Given the description of an element on the screen output the (x, y) to click on. 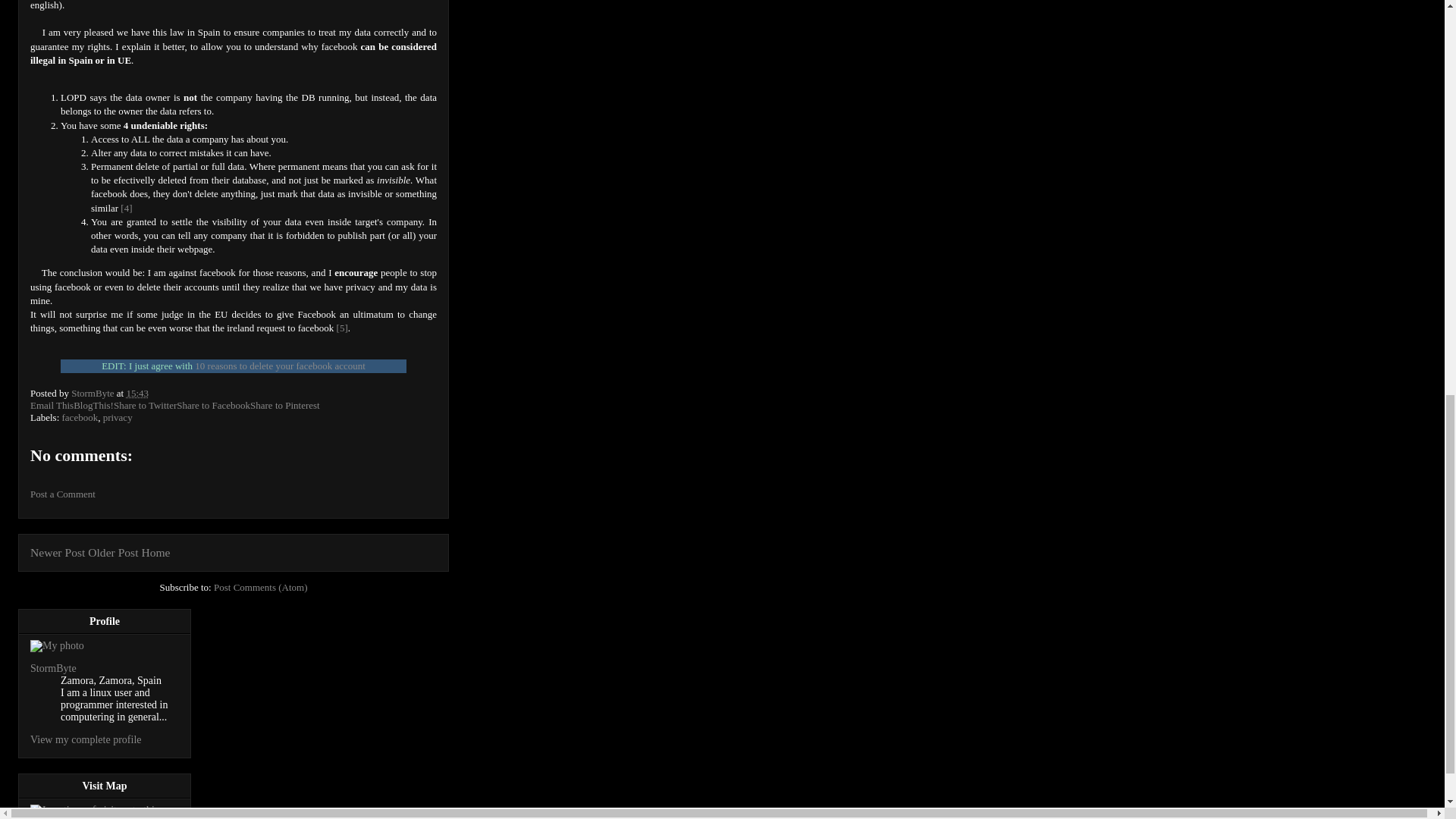
Newer Post (57, 552)
Share to Facebook (213, 405)
Older Post (112, 552)
Email This (52, 405)
Older Post (112, 552)
Share to Twitter (144, 405)
facebook (80, 417)
Share to Pinterest (285, 405)
author profile (93, 392)
15:43 (136, 392)
StormByte (53, 668)
Share to Pinterest (285, 405)
Newer Post (57, 552)
StormByte (93, 392)
BlogThis! (93, 405)
